Given the description of an element on the screen output the (x, y) to click on. 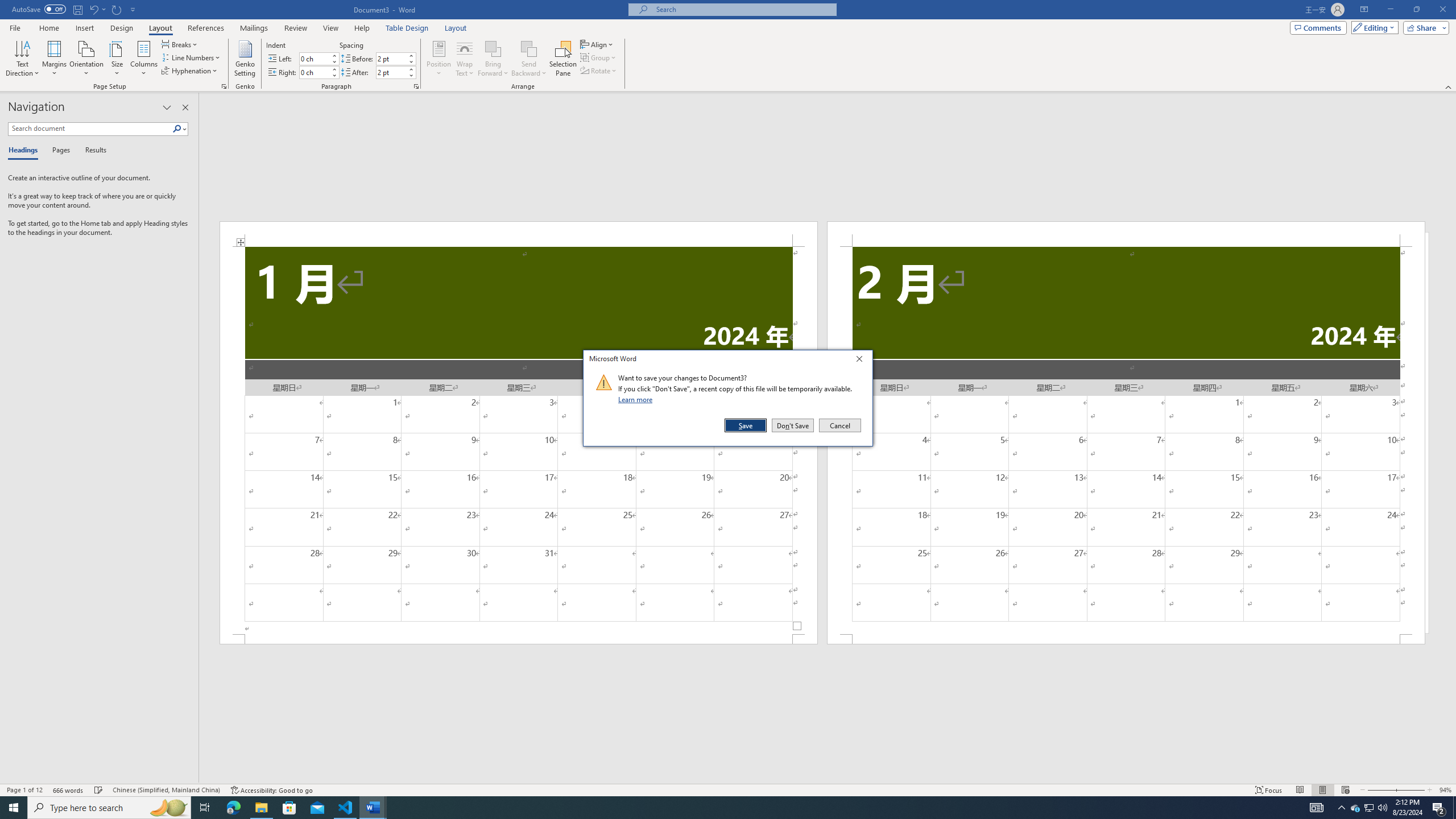
Header -Section 2- (1126, 233)
Margins (54, 58)
Wrap Text (464, 58)
Hyphenation (189, 69)
Rotate (599, 69)
